Given the description of an element on the screen output the (x, y) to click on. 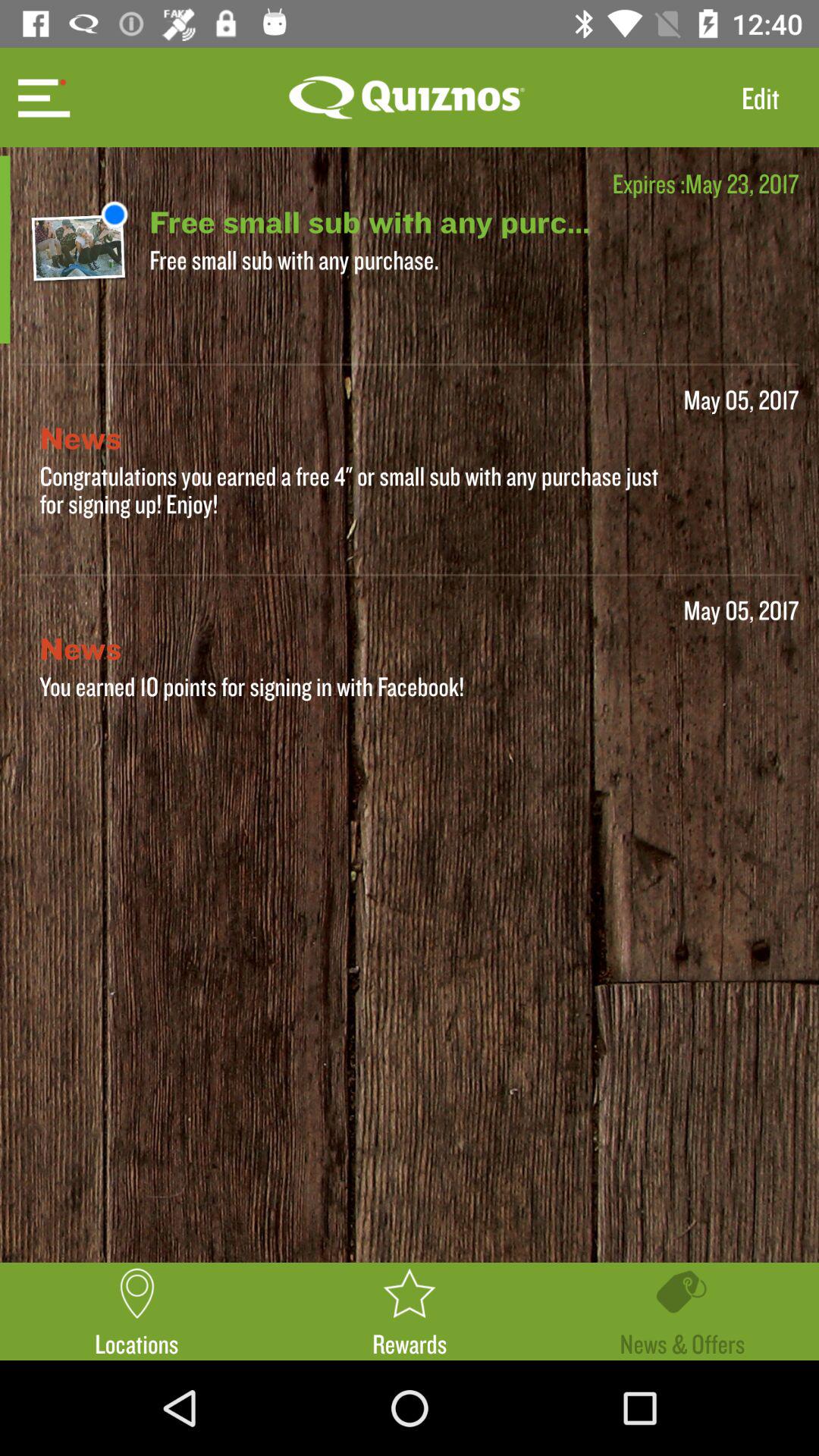
menu buttton (41, 97)
